Given the description of an element on the screen output the (x, y) to click on. 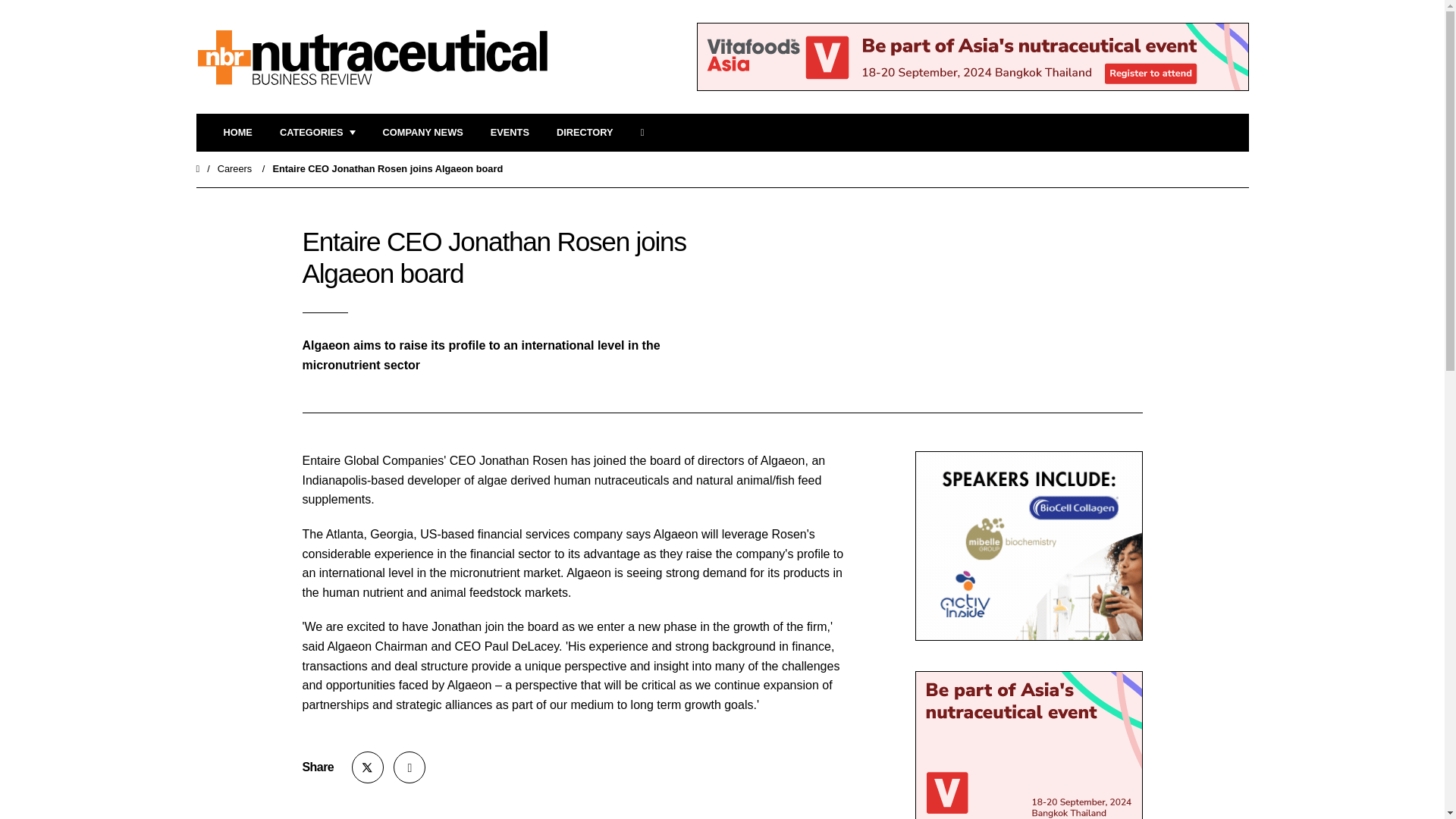
LinkedIn (409, 766)
Follow Nutraceutical Business Review on X (368, 766)
CATEGORIES (317, 133)
Directory (584, 133)
HOME (236, 133)
COMPANY NEWS (422, 133)
SEARCH (646, 133)
DIRECTORY (584, 133)
Follow Nutraceutical Business Review on LinkedIn (409, 766)
X (368, 766)
EVENTS (509, 133)
